Given the description of an element on the screen output the (x, y) to click on. 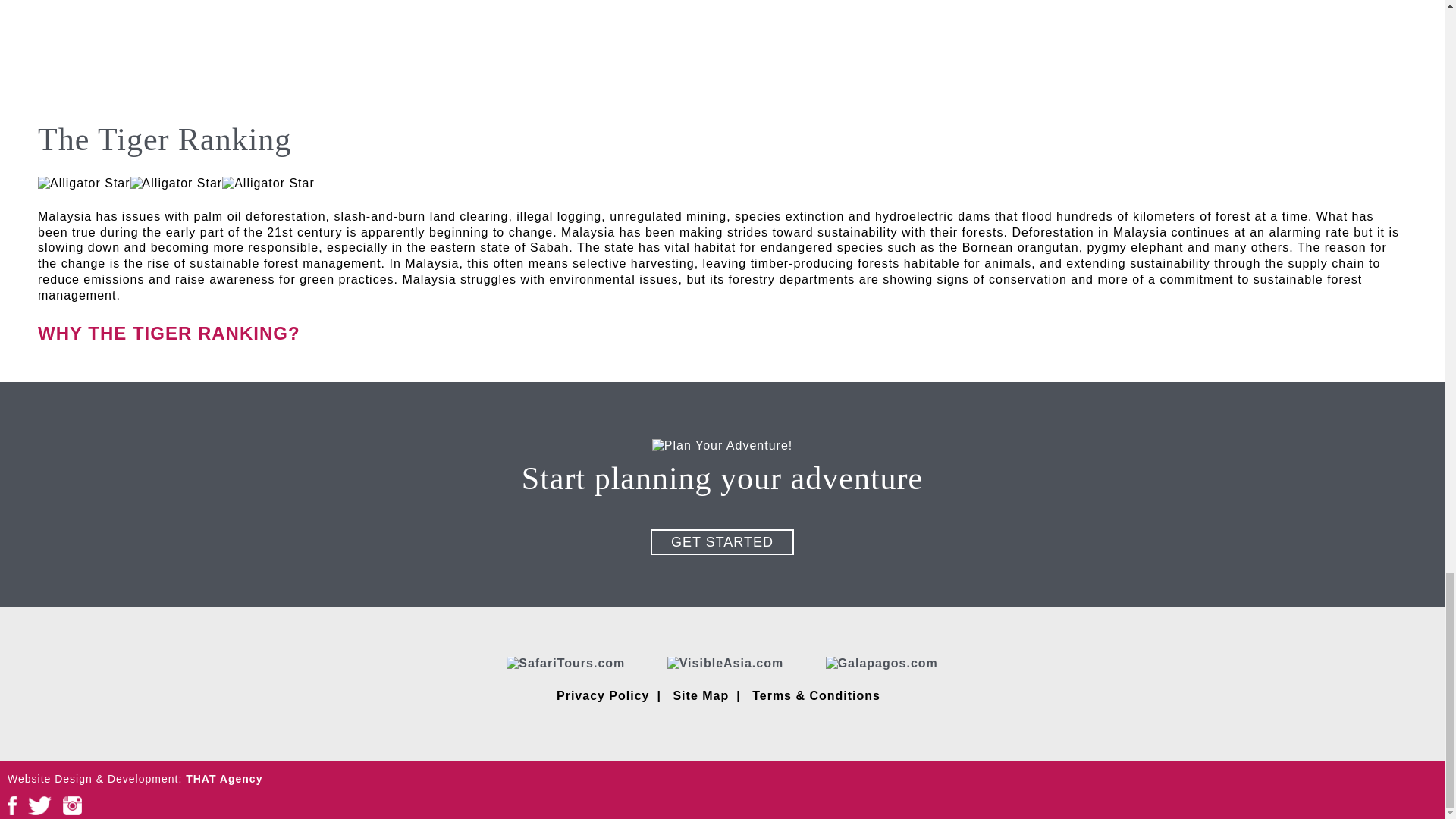
Privacy Policy (602, 695)
Site Map (700, 695)
WHY THE TIGER RANKING? (168, 332)
GET STARTED (721, 542)
THAT Agency (224, 778)
